Given the description of an element on the screen output the (x, y) to click on. 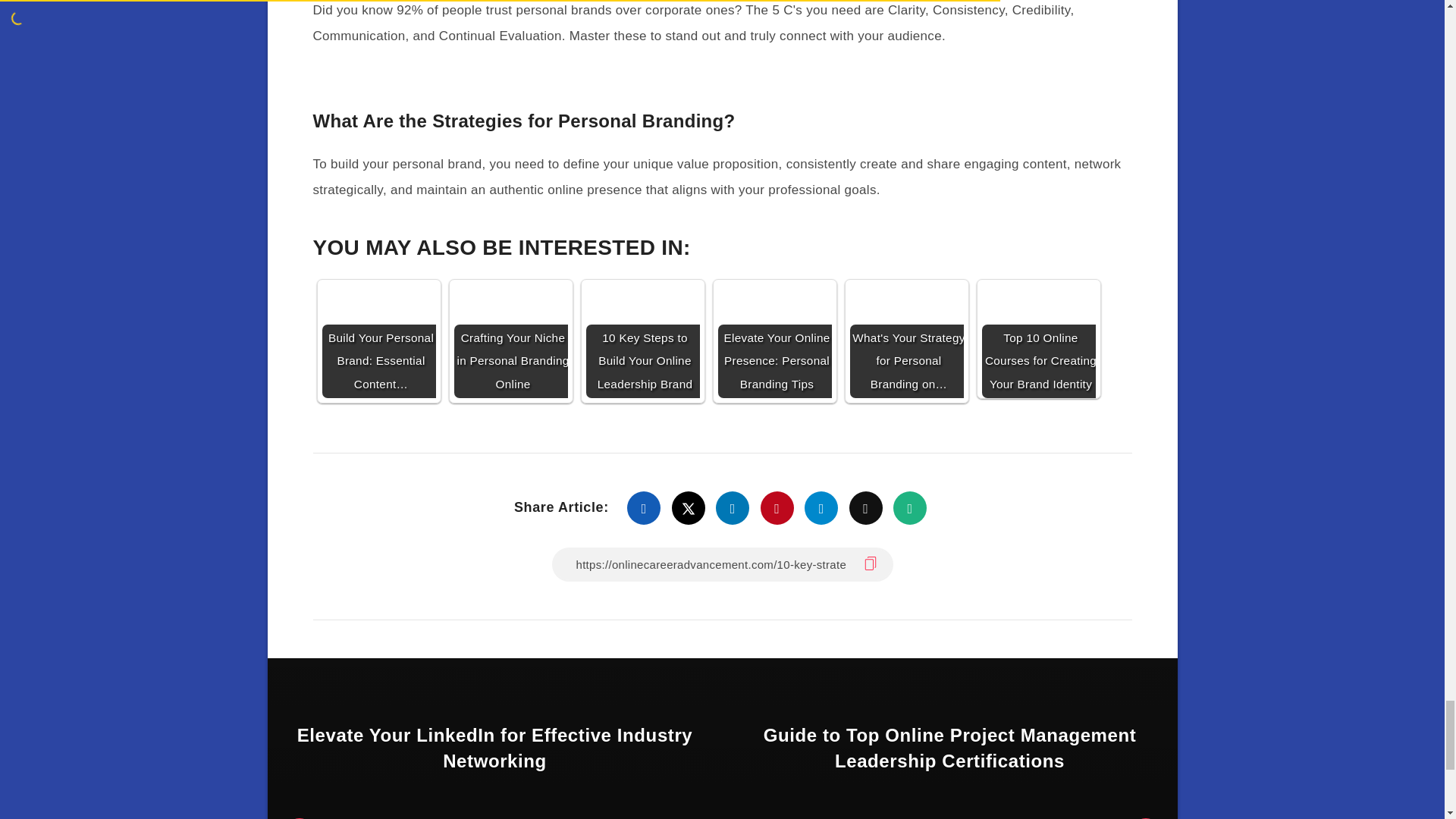
10 Key Steps to Build Your Online Leadership Brand (641, 341)
Elevate Your Online Presence: Personal Branding Tips (774, 341)
Crafting Your Niche in Personal Branding Online (509, 341)
